Given the description of an element on the screen output the (x, y) to click on. 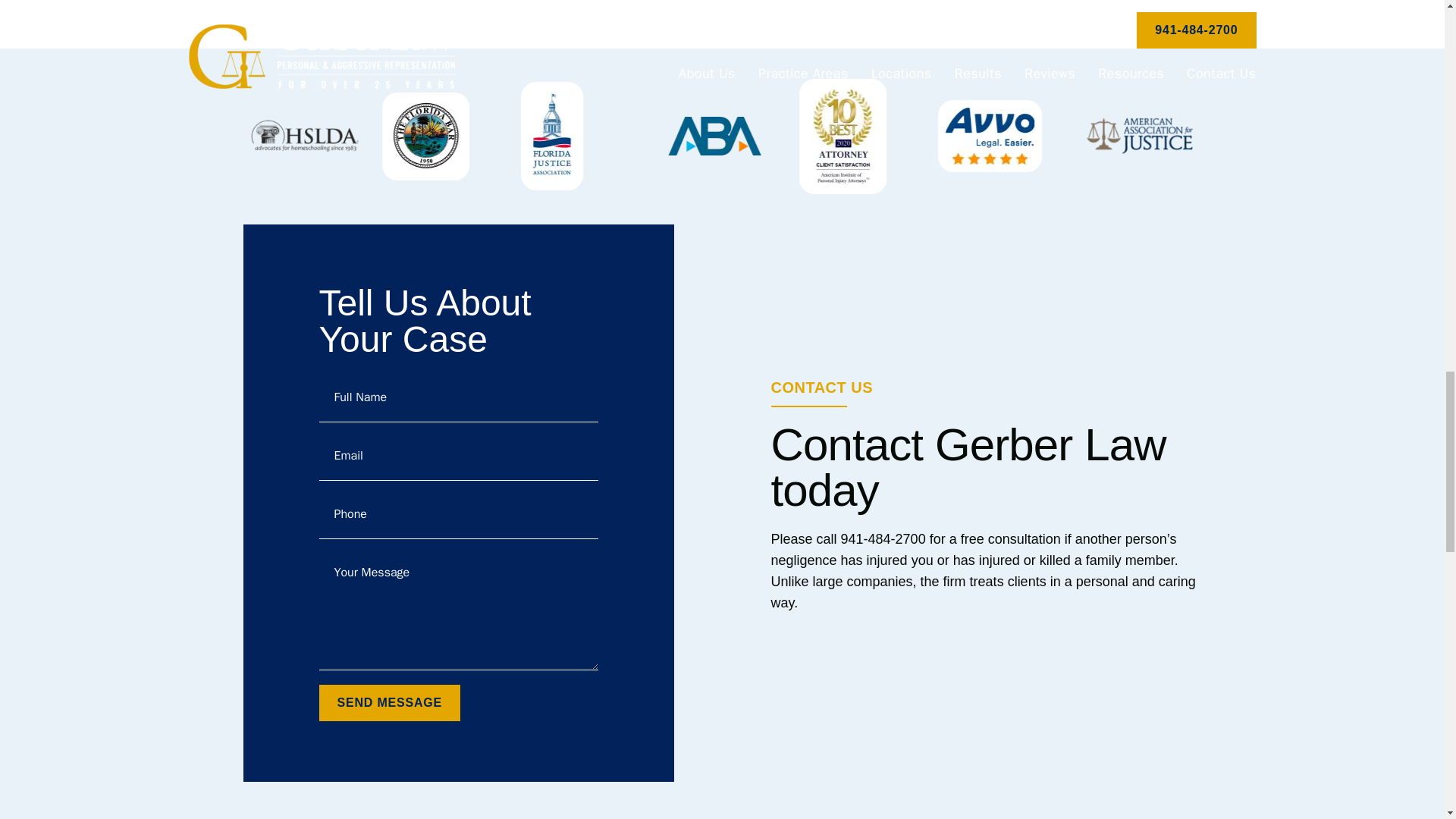
HSLDA (304, 136)
The Florida Bar (425, 135)
ABA (714, 136)
